Given the description of an element on the screen output the (x, y) to click on. 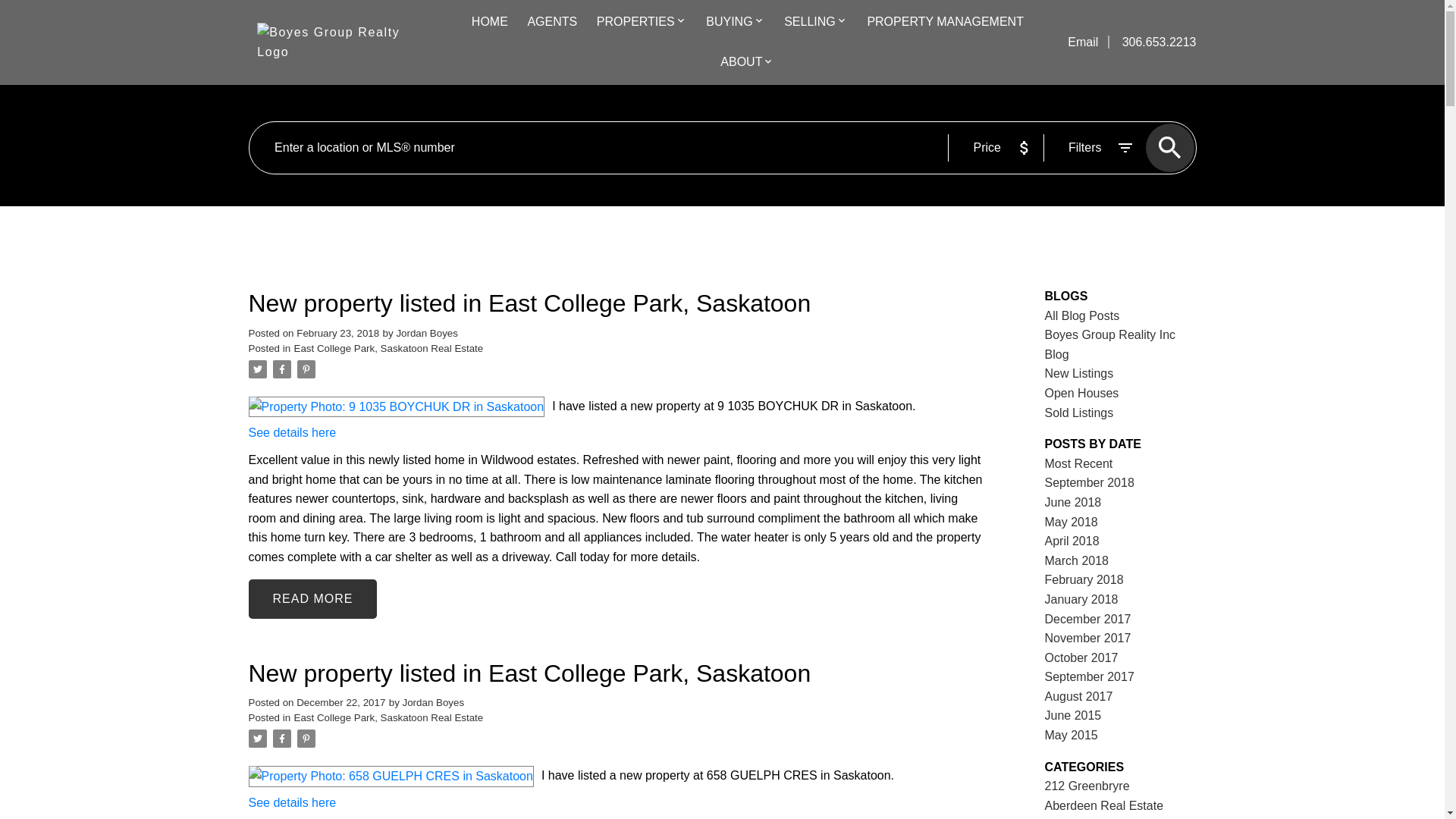
BUYING (729, 22)
SELLING (809, 22)
  306.653.2213 (1152, 42)
Email (1083, 42)
AGENTS (551, 22)
HOME (489, 22)
PROPERTIES (635, 22)
ABOUT (740, 62)
PROPERTY MANAGEMENT (944, 22)
